Given the description of an element on the screen output the (x, y) to click on. 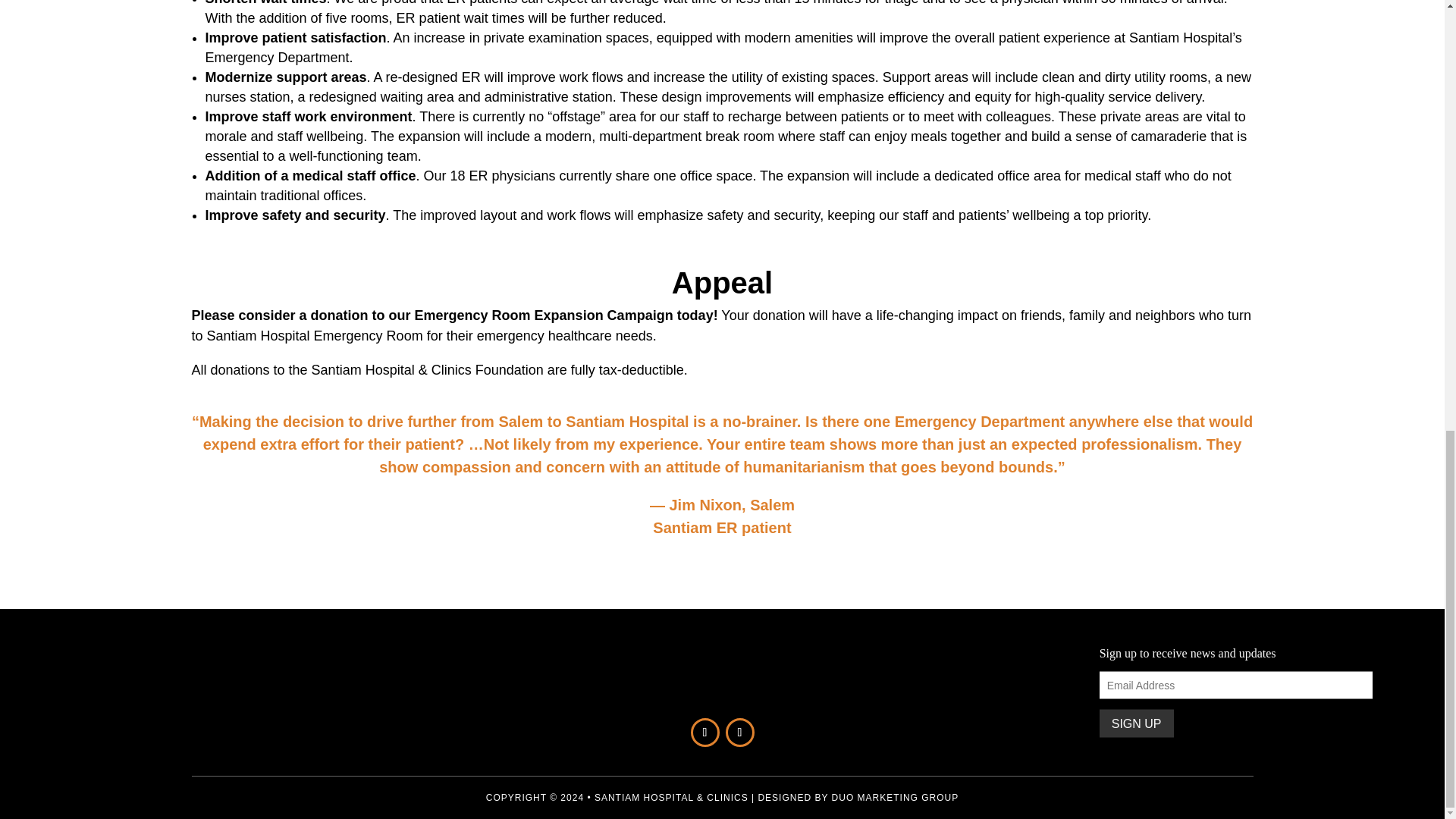
Follow on Instagram (739, 732)
Follow on Facebook (704, 732)
Sign Up (1136, 723)
